Given the description of an element on the screen output the (x, y) to click on. 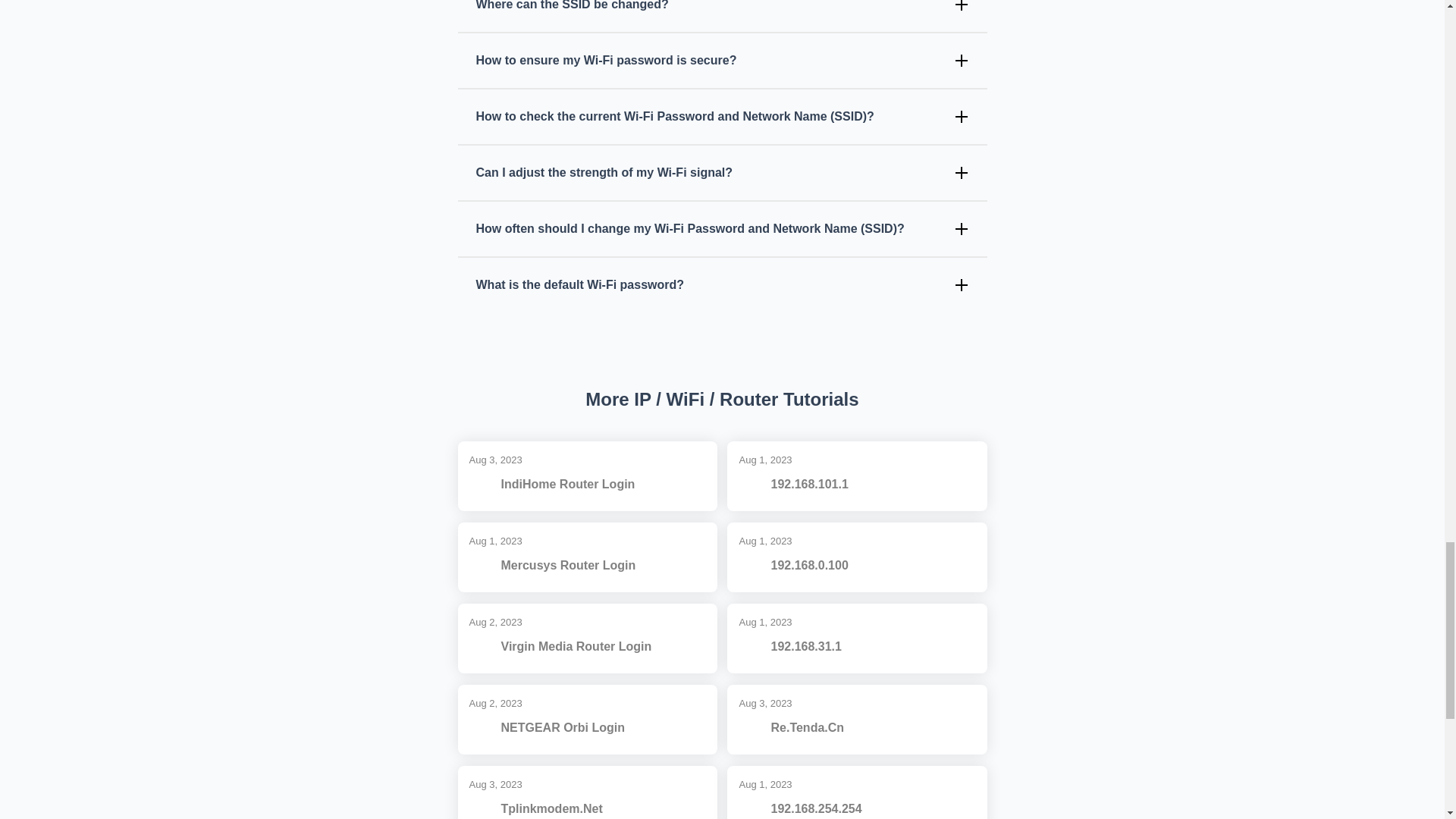
192.168.0.100 (808, 565)
Mercusys Router Login (567, 565)
NETGEAR Orbi Login (562, 728)
Tplinkmodem.Net (551, 809)
Re.Tenda.Cn (807, 728)
192.168.101.1 (808, 484)
IndiHome Router Login (567, 484)
Virgin Media Router Login (575, 647)
192.168.31.1 (805, 647)
192.168.254.254 (815, 809)
